Given the description of an element on the screen output the (x, y) to click on. 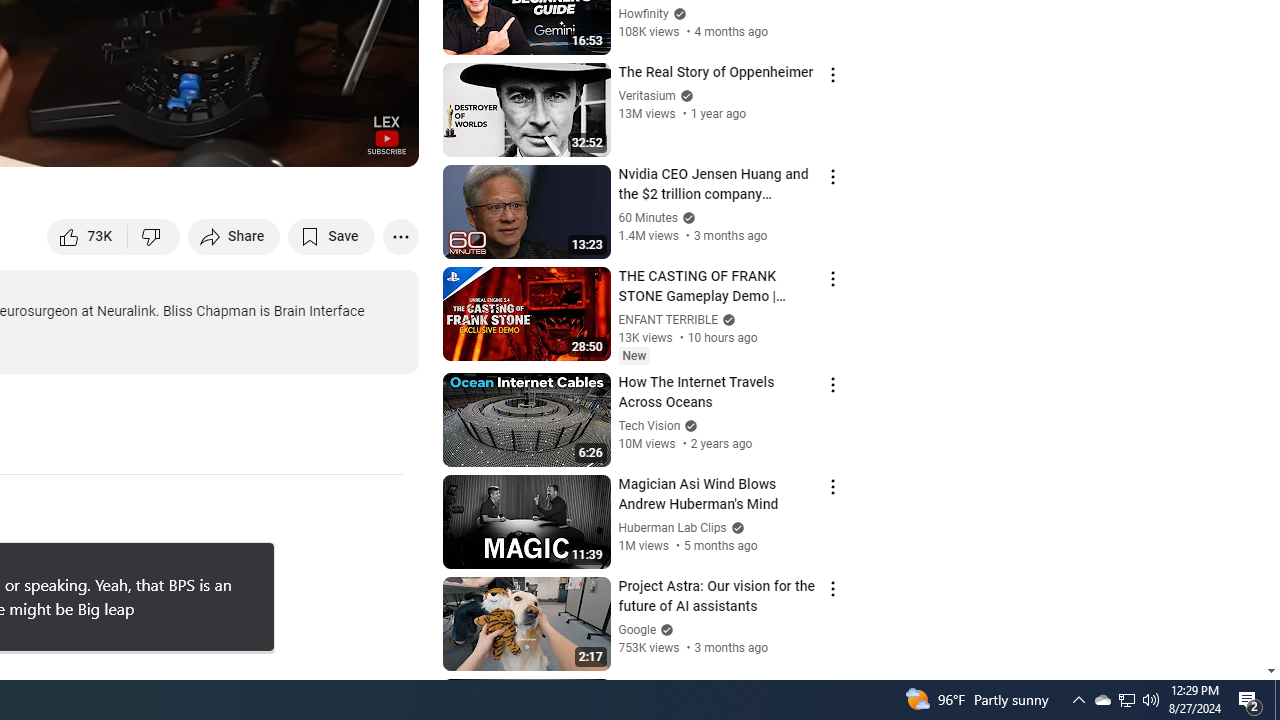
like this video along with 73,133 other people (88, 236)
Channel watermark (386, 134)
Theater mode (t) (333, 142)
Share (234, 236)
Miniplayer (i) (286, 142)
Channel watermark (386, 134)
New (634, 356)
Full screen (f) (382, 142)
More actions (399, 236)
Subtitles/closed captions unavailable (190, 142)
Settings (237, 142)
